Given the description of an element on the screen output the (x, y) to click on. 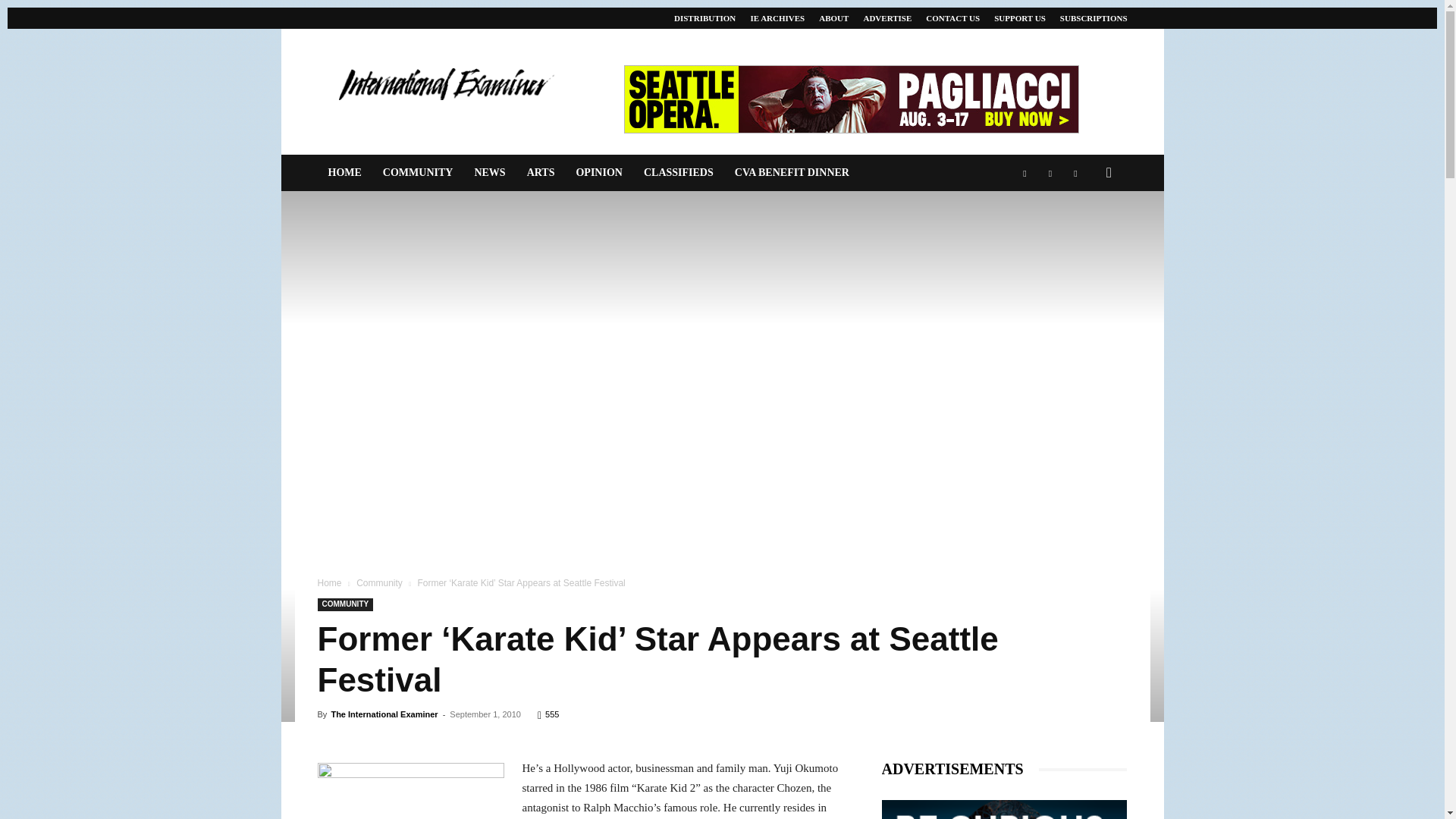
View all posts in Community (379, 583)
Search (1085, 233)
CVA BENEFIT DINNER (791, 172)
Pagliacci (850, 99)
CONTACT US (952, 17)
Home (328, 583)
HOME (344, 172)
ADVERTISE (887, 17)
NEWS (489, 172)
IE ARCHIVES (777, 17)
Community (379, 583)
COMMUNITY (344, 604)
SUPPORT US (1019, 17)
ABOUT (833, 17)
OPINION (597, 172)
